Given the description of an element on the screen output the (x, y) to click on. 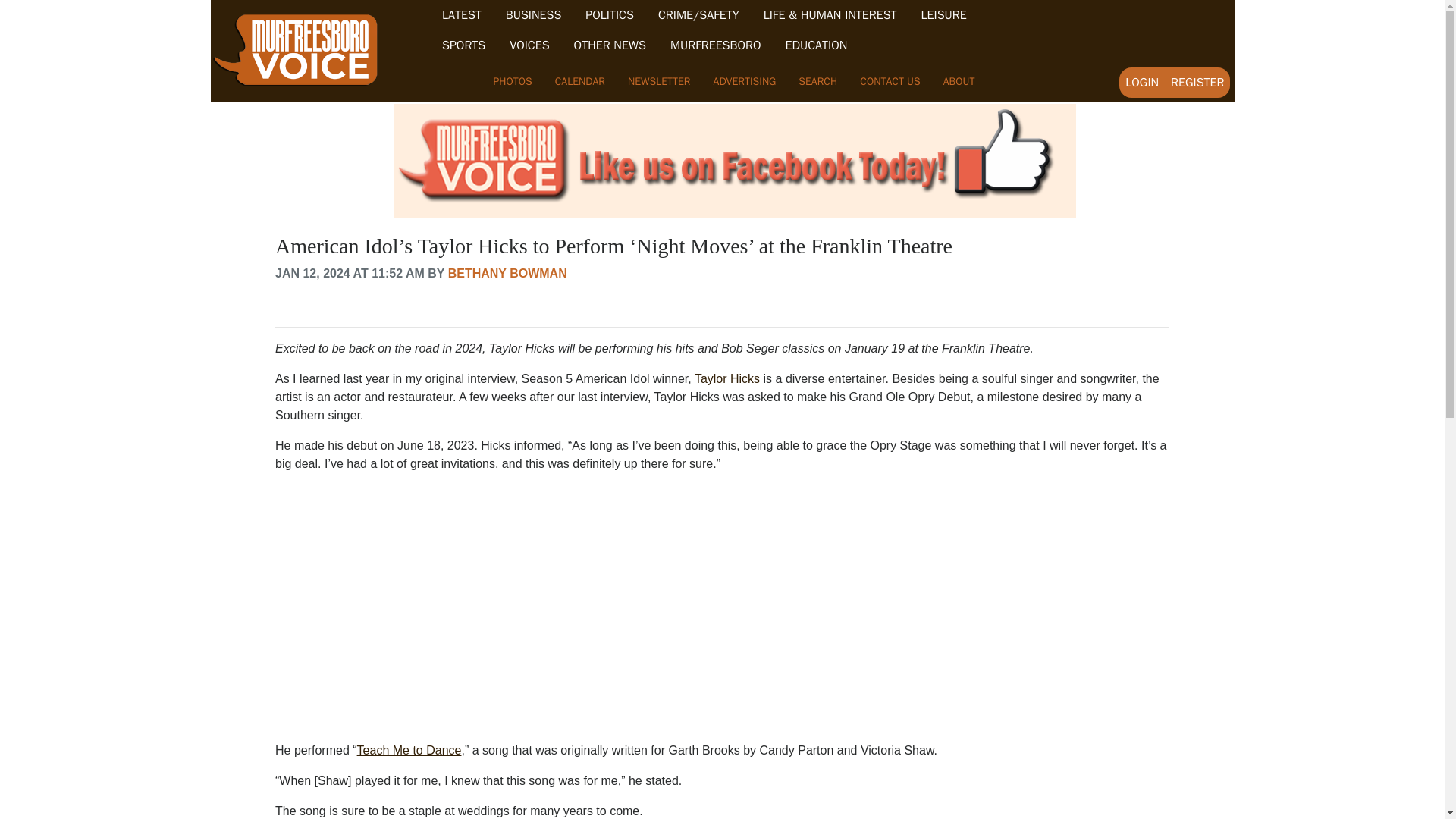
LATEST (461, 14)
POLITICS (609, 14)
BUSINESS (533, 14)
MURFREESBORO (715, 45)
Teach Me to Dance (408, 749)
ADVERTISING (744, 81)
BETHANY BOWMAN (507, 273)
ABOUT (959, 81)
PHOTOS (512, 81)
LEISURE (943, 14)
EDUCATION (815, 45)
CALENDAR (579, 81)
VOICES (528, 45)
SEARCH (817, 81)
REGISTER (1197, 82)
